Given the description of an element on the screen output the (x, y) to click on. 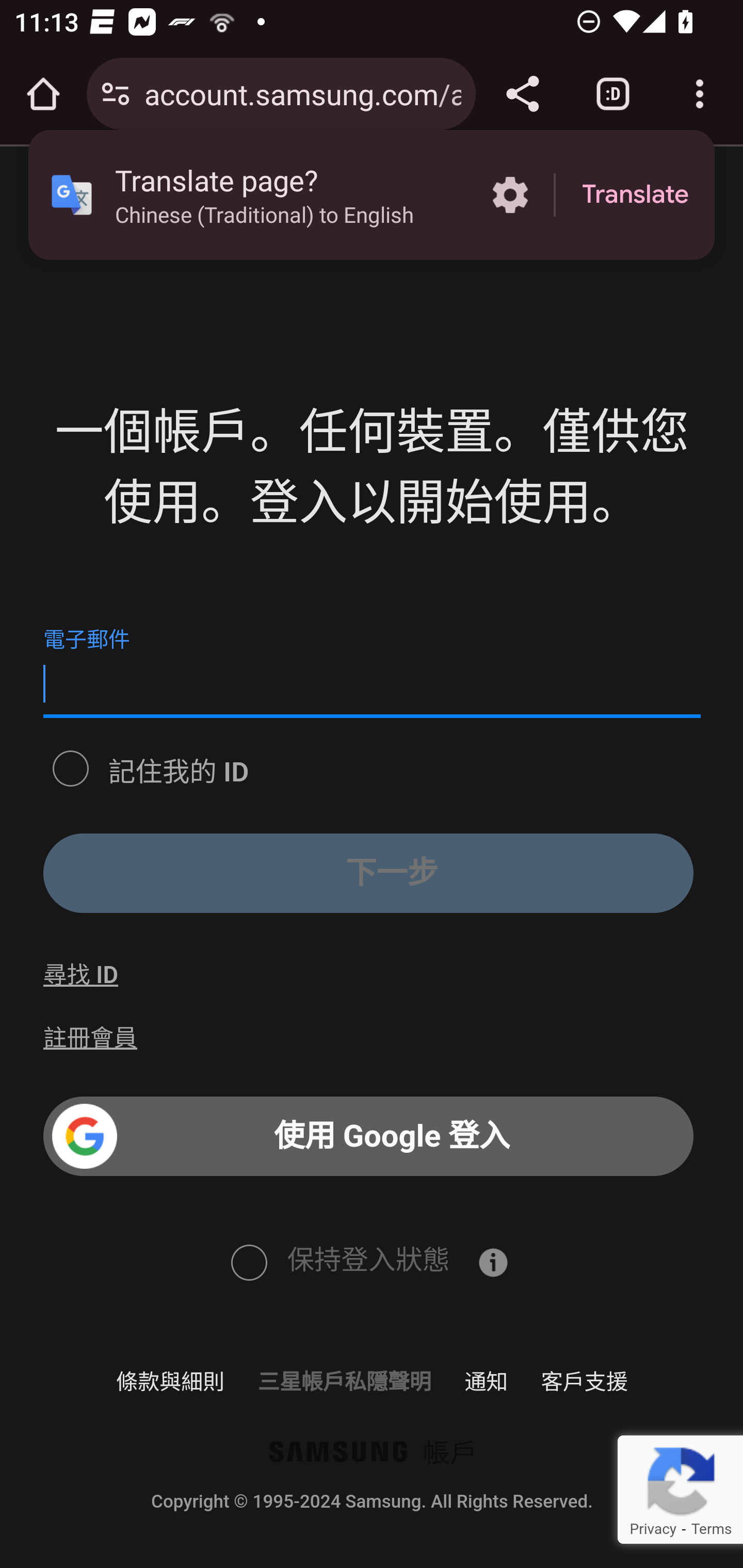
Open the home page (43, 93)
Connection is secure (115, 93)
Share (522, 93)
Switch or close tabs (612, 93)
Customize and control Google Chrome (699, 93)
Translate (634, 195)
More options in the Translate page? (509, 195)
記住我的 ID (70, 766)
下一步 (368, 873)
尋找 ID (80, 974)
註冊會員 (90, 1037)
使用 Google 登入 (368, 1136)
information (492, 1262)
保持登入狀態 (247, 1260)
三星帳戶私隱聲明 (343, 1381)
通知 (486, 1381)
客戶支援 (583, 1381)
Privacy (652, 1528)
Terms (711, 1528)
